Given the description of an element on the screen output the (x, y) to click on. 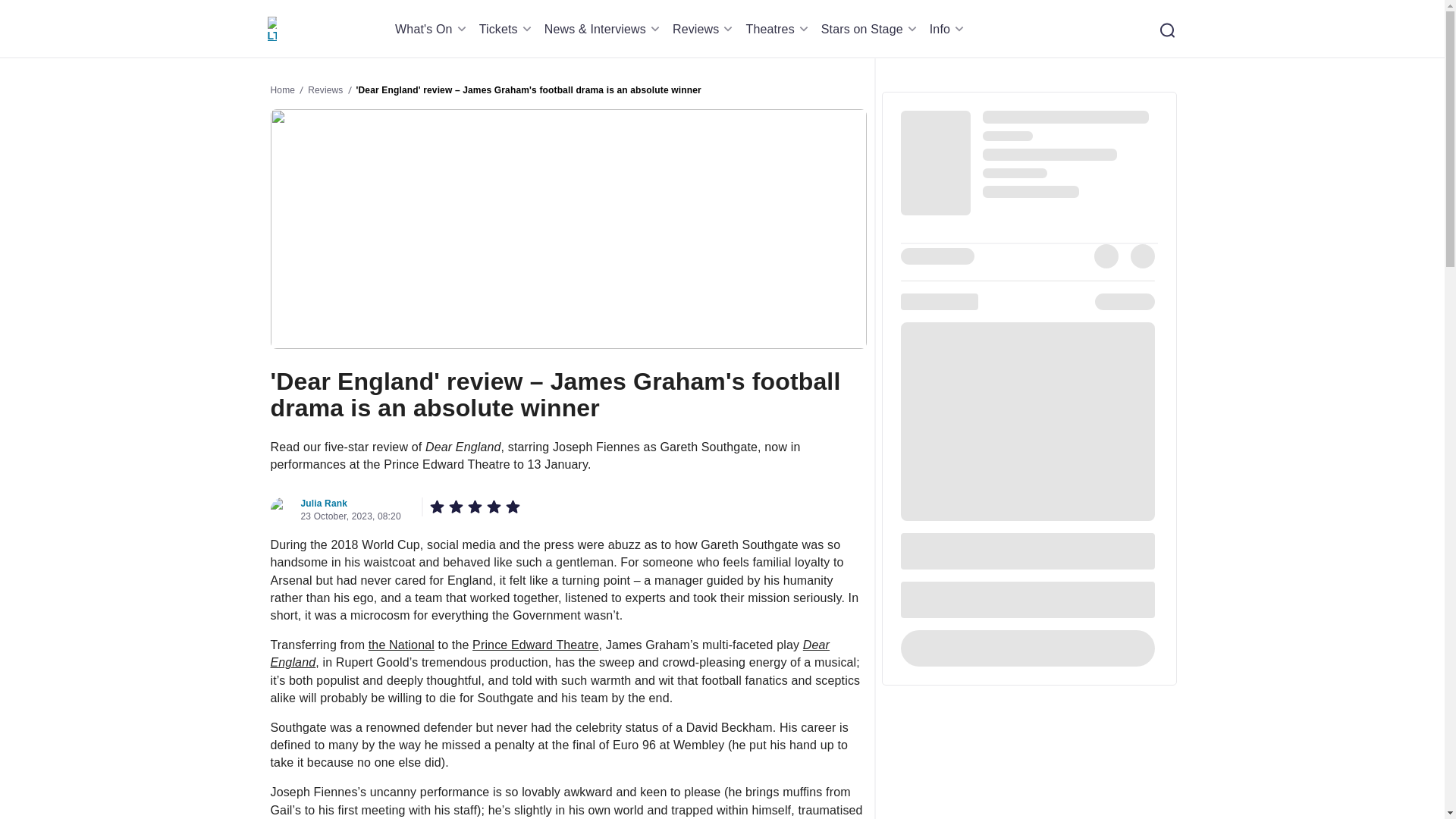
Reviews (705, 28)
Tickets (508, 28)
What's On (432, 28)
